Given the description of an element on the screen output the (x, y) to click on. 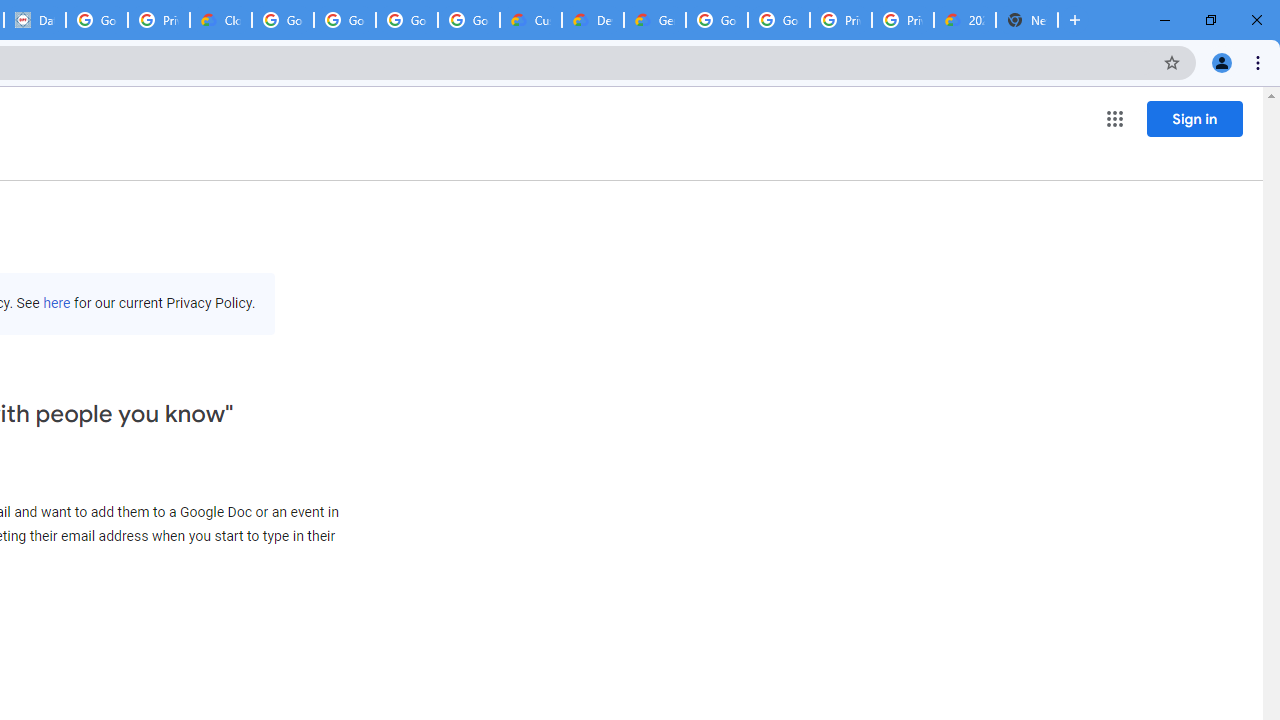
Google Cloud Platform (778, 20)
Google Cloud Platform (716, 20)
Google Workspace - Specific Terms (406, 20)
